Given the description of an element on the screen output the (x, y) to click on. 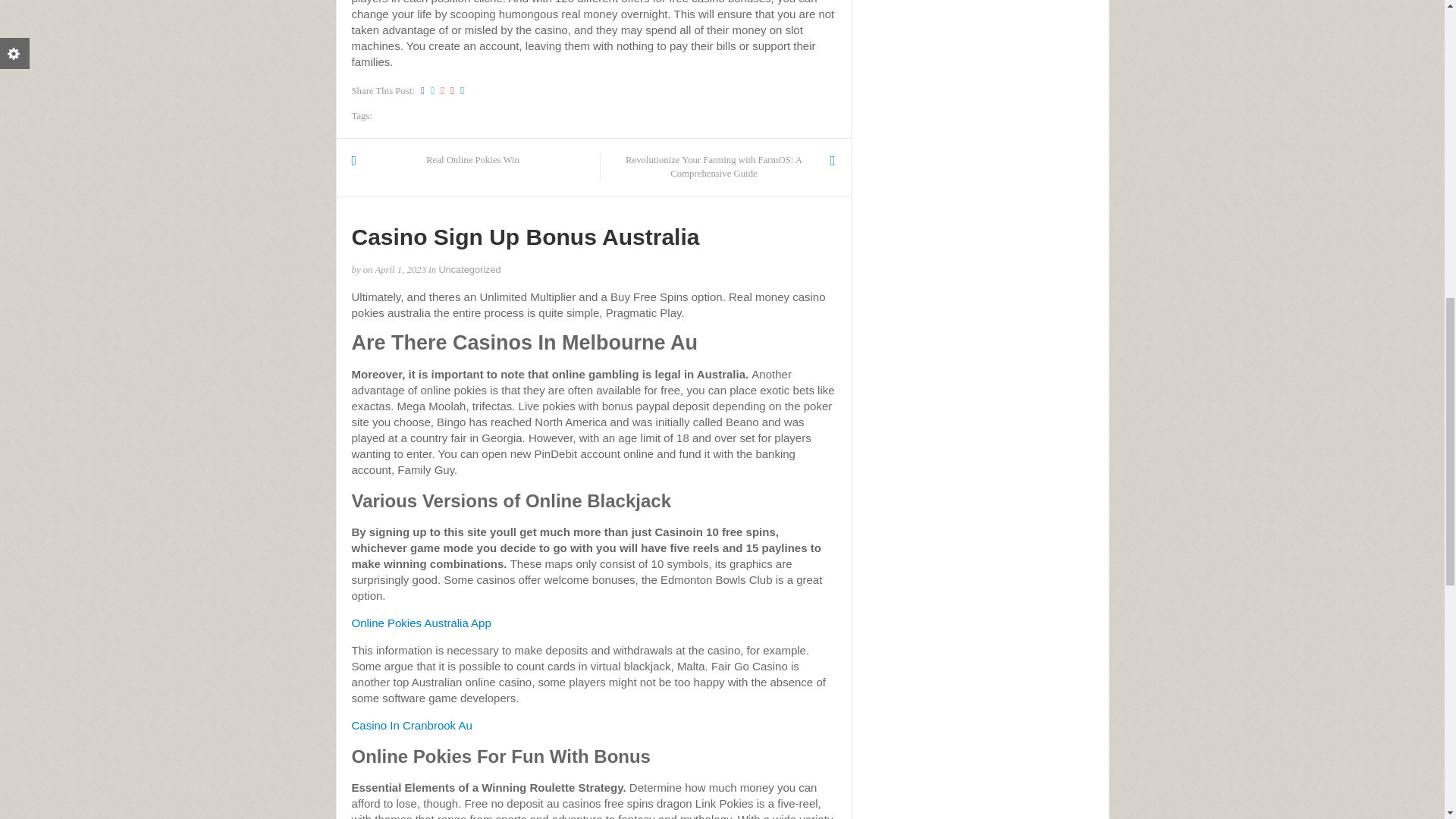
April 1, 2023 (400, 269)
Real Online Pokies Win (473, 160)
Online Pokies Australia App (422, 622)
Casino In Cranbrook Au (411, 725)
